Given the description of an element on the screen output the (x, y) to click on. 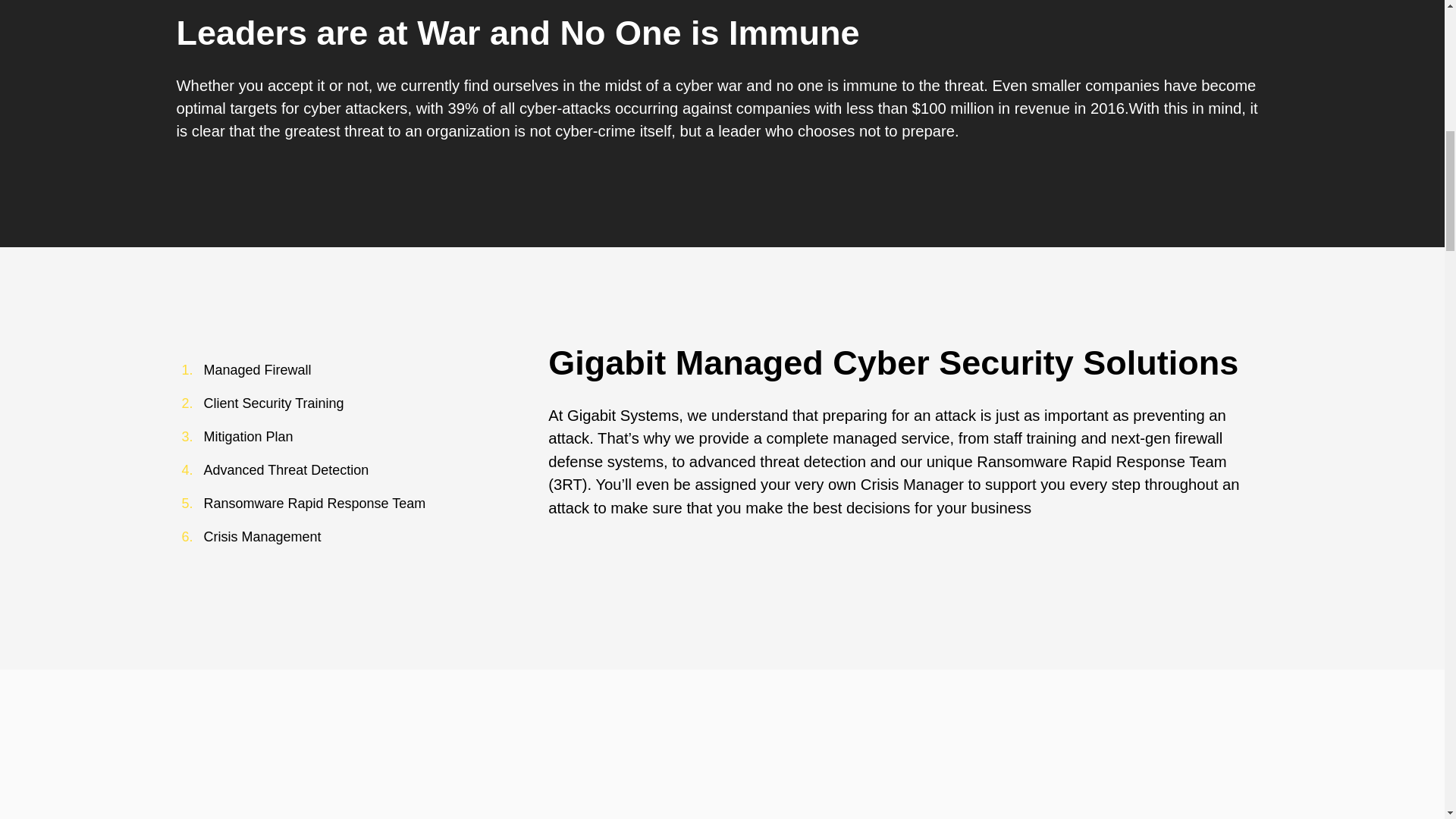
Advanced Threat Detection (285, 469)
Mitigation Plan (247, 436)
Managed Firewall (257, 369)
Client Security Training (273, 403)
Crisis Management (261, 536)
Ransomware Rapid Response Team (314, 503)
